Given the description of an element on the screen output the (x, y) to click on. 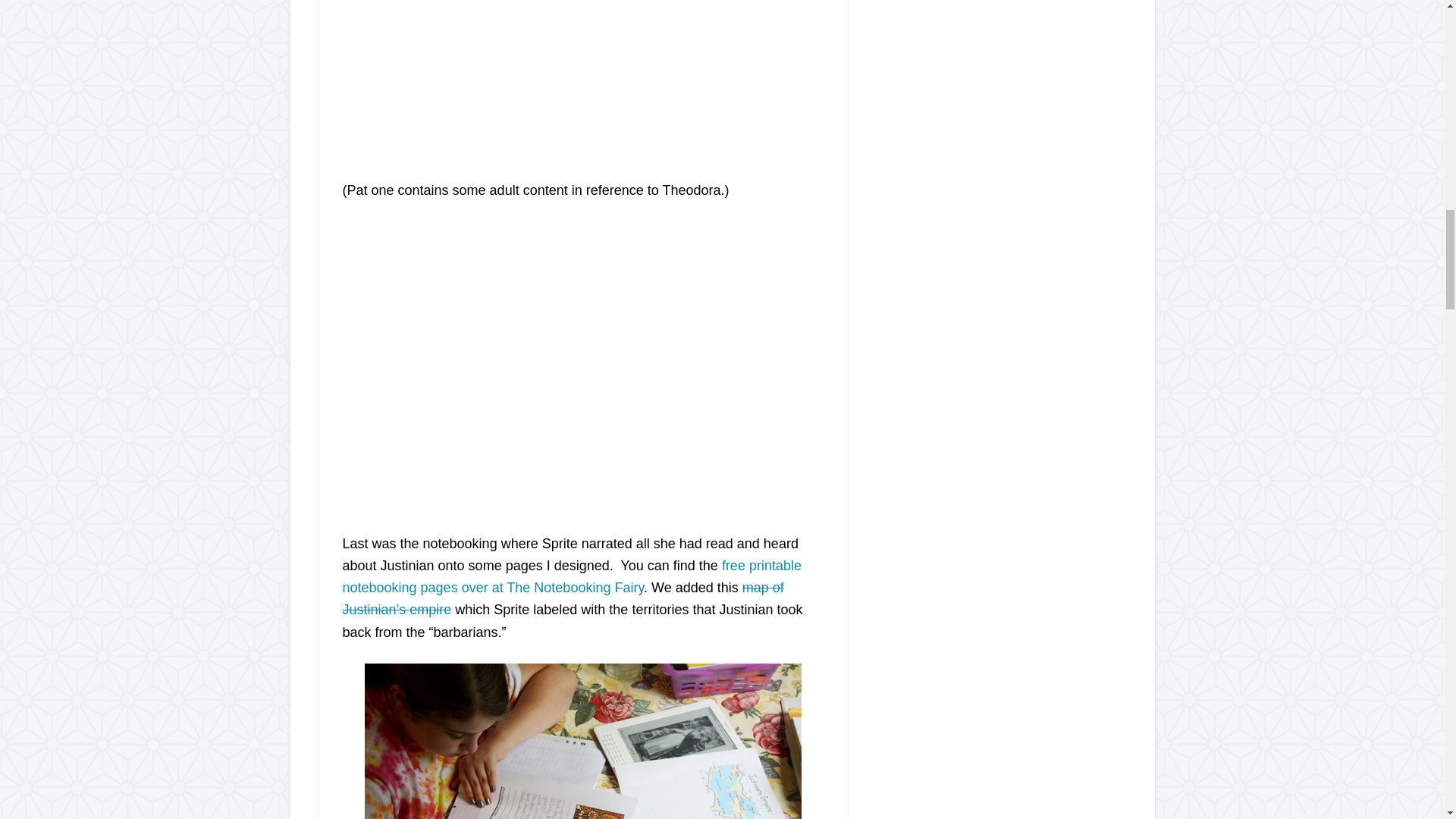
Justinian part1 (532, 76)
Justinian part2 (532, 363)
